Given the description of an element on the screen output the (x, y) to click on. 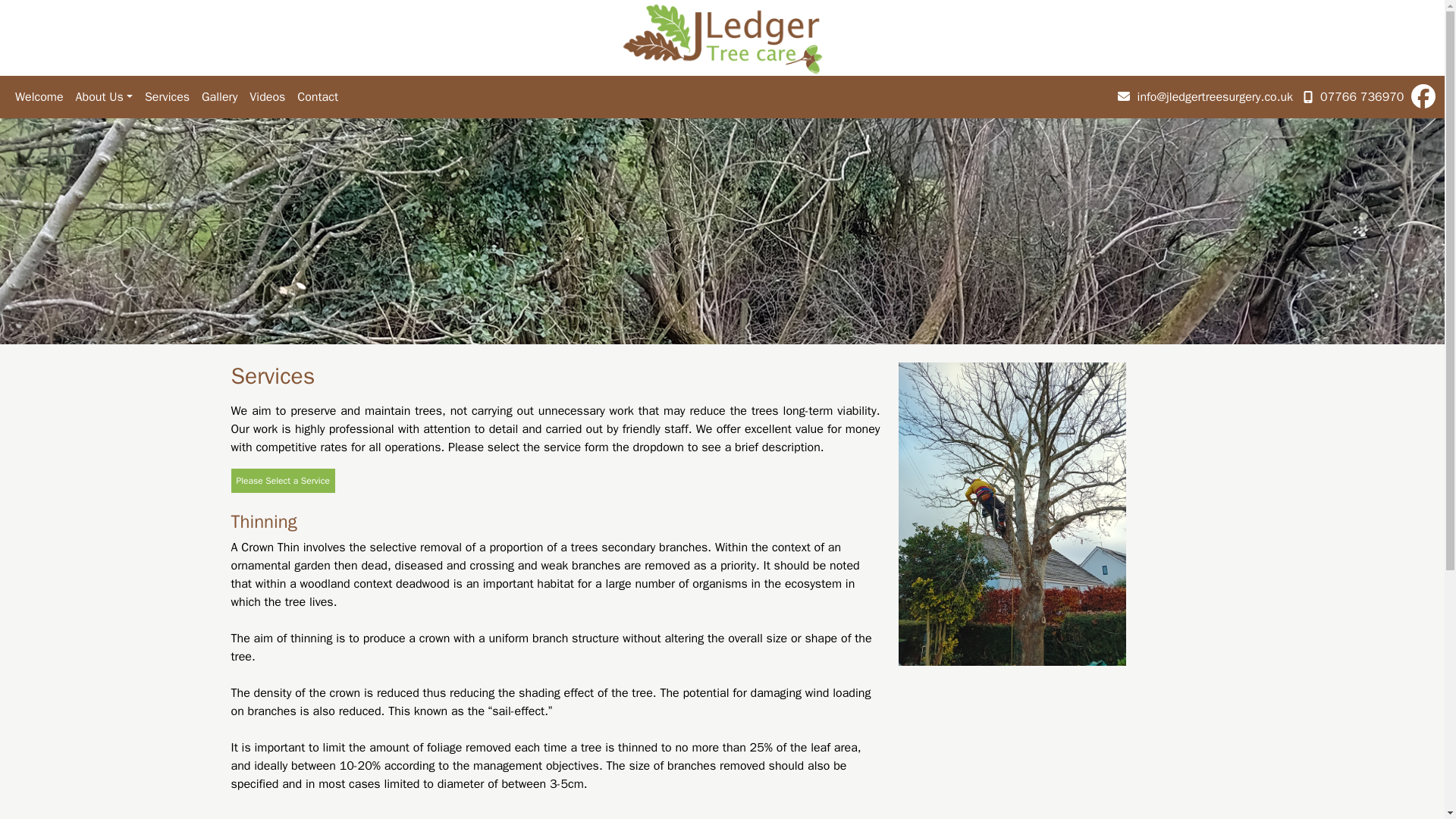
Services (166, 96)
About Us (103, 96)
Contact (317, 96)
Please Select a Service (282, 480)
Videos (267, 96)
Gallery (219, 96)
Welcome (38, 96)
